Given the description of an element on the screen output the (x, y) to click on. 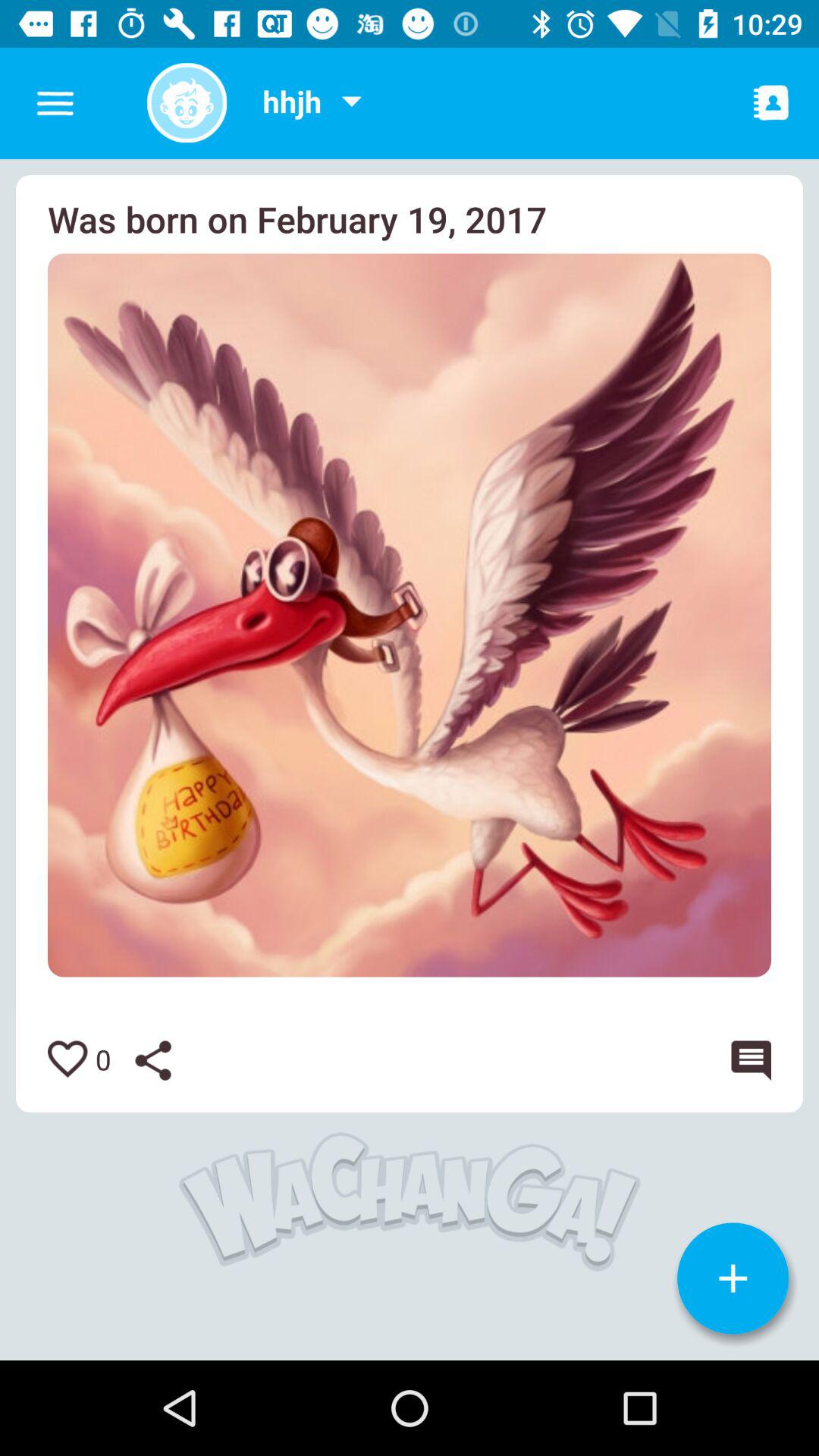
more options (351, 102)
